Given the description of an element on the screen output the (x, y) to click on. 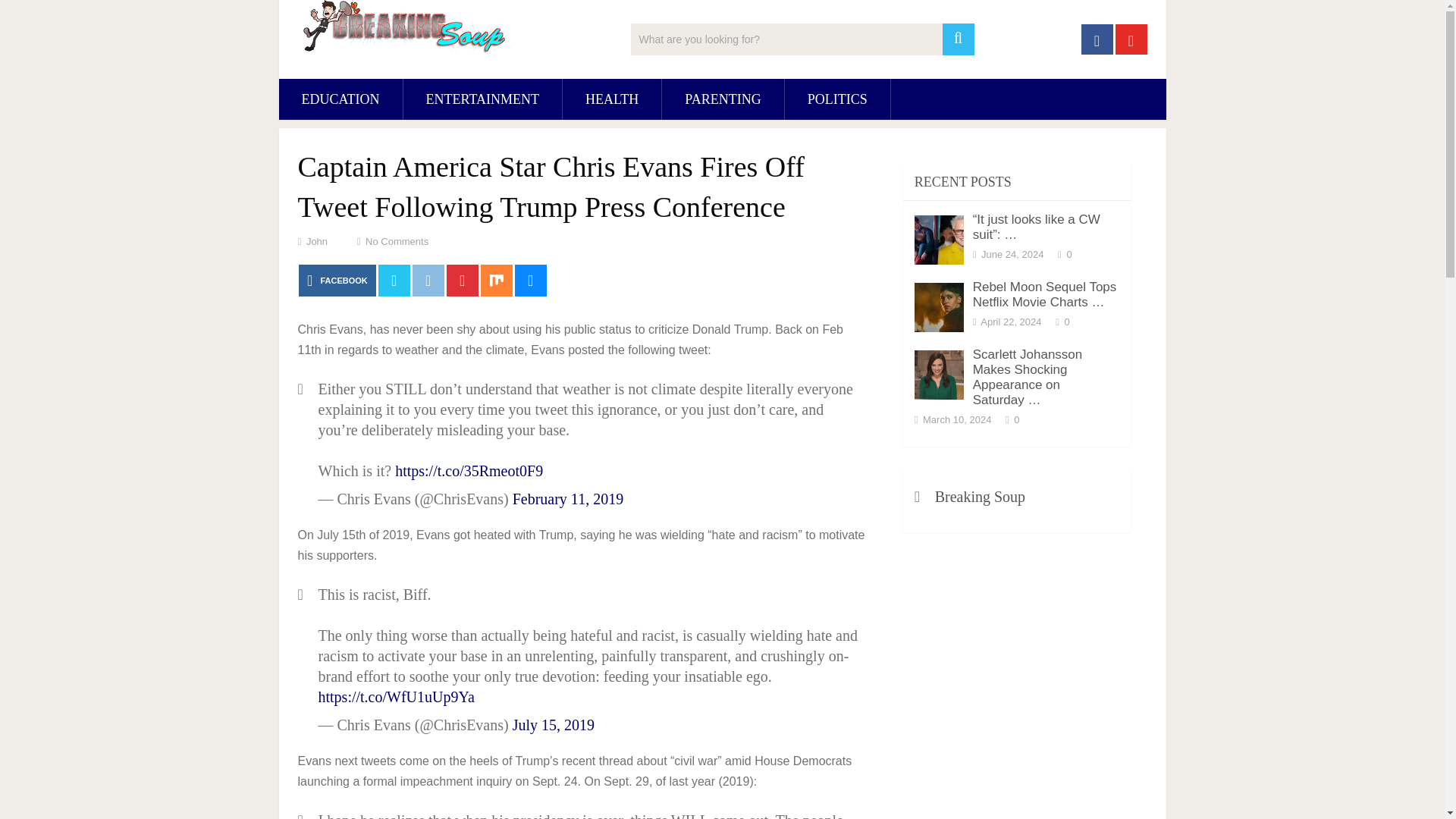
PARENTING (722, 98)
ENTERTAINMENT (482, 98)
EDUCATION (341, 98)
HEALTH (611, 98)
July 15, 2019 (553, 724)
February 11, 2019 (567, 498)
FACEBOOK (336, 280)
No Comments (396, 241)
Posts by John (316, 241)
POLITICS (836, 98)
